Given the description of an element on the screen output the (x, y) to click on. 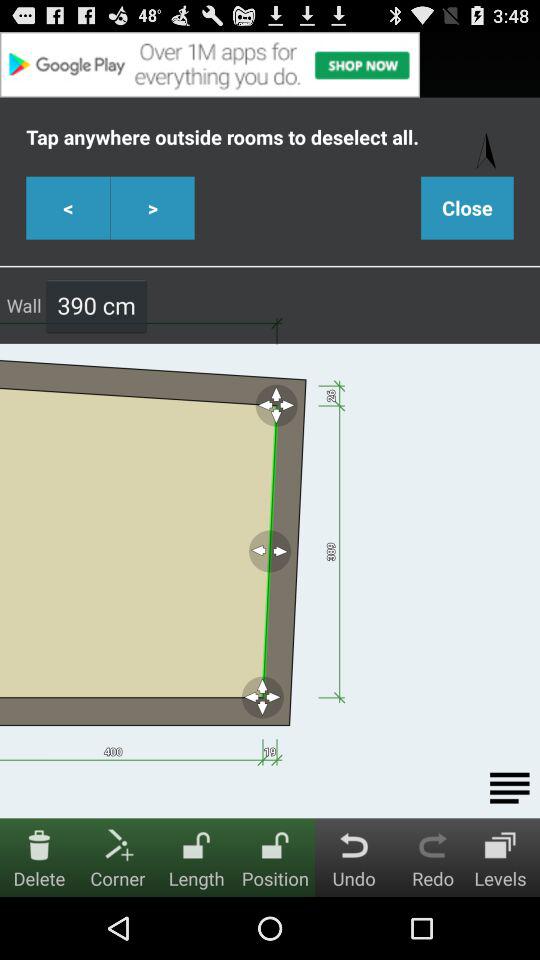
click advertisements (270, 64)
